Given the description of an element on the screen output the (x, y) to click on. 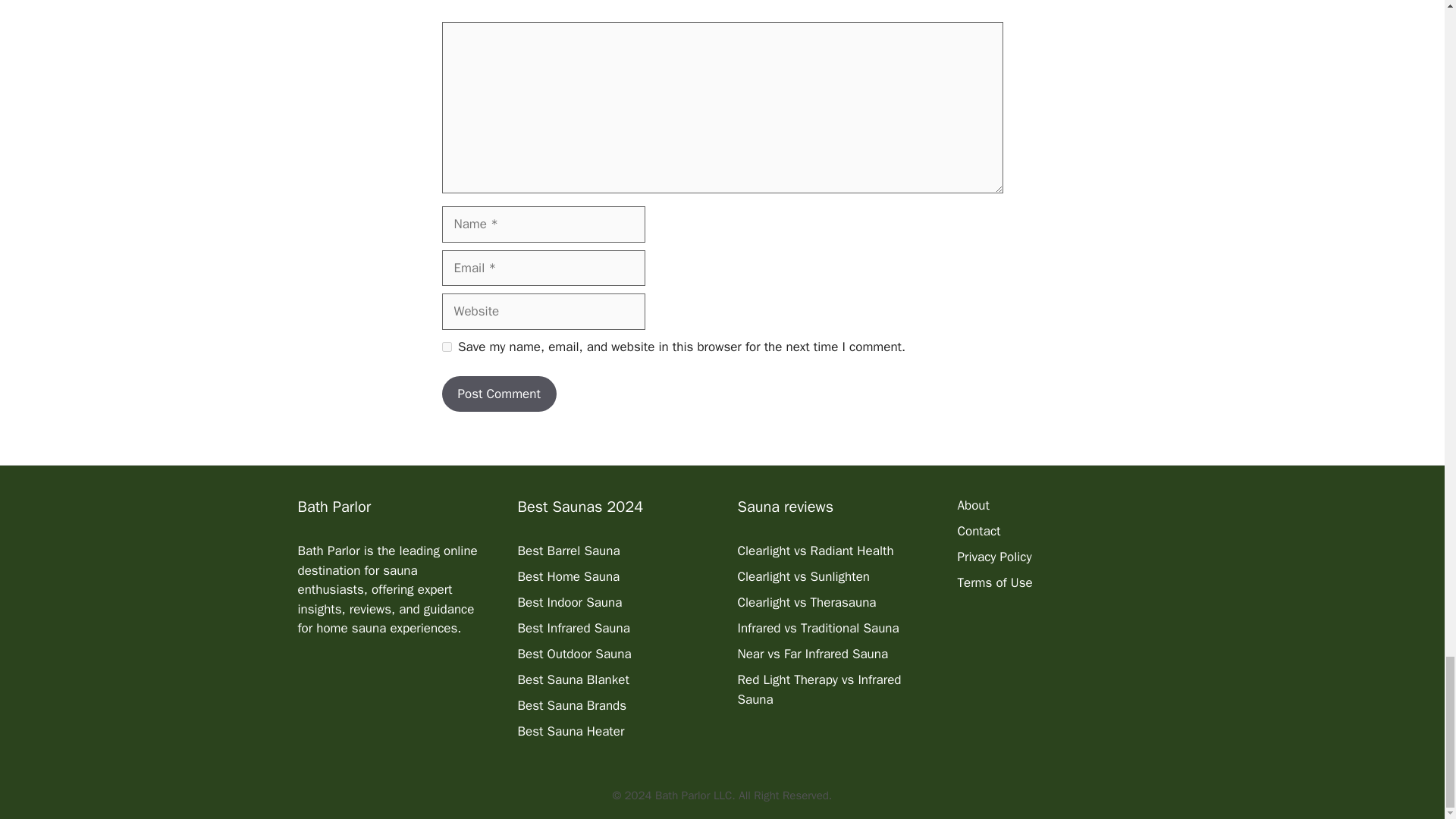
Post Comment (498, 393)
yes (446, 347)
